Given the description of an element on the screen output the (x, y) to click on. 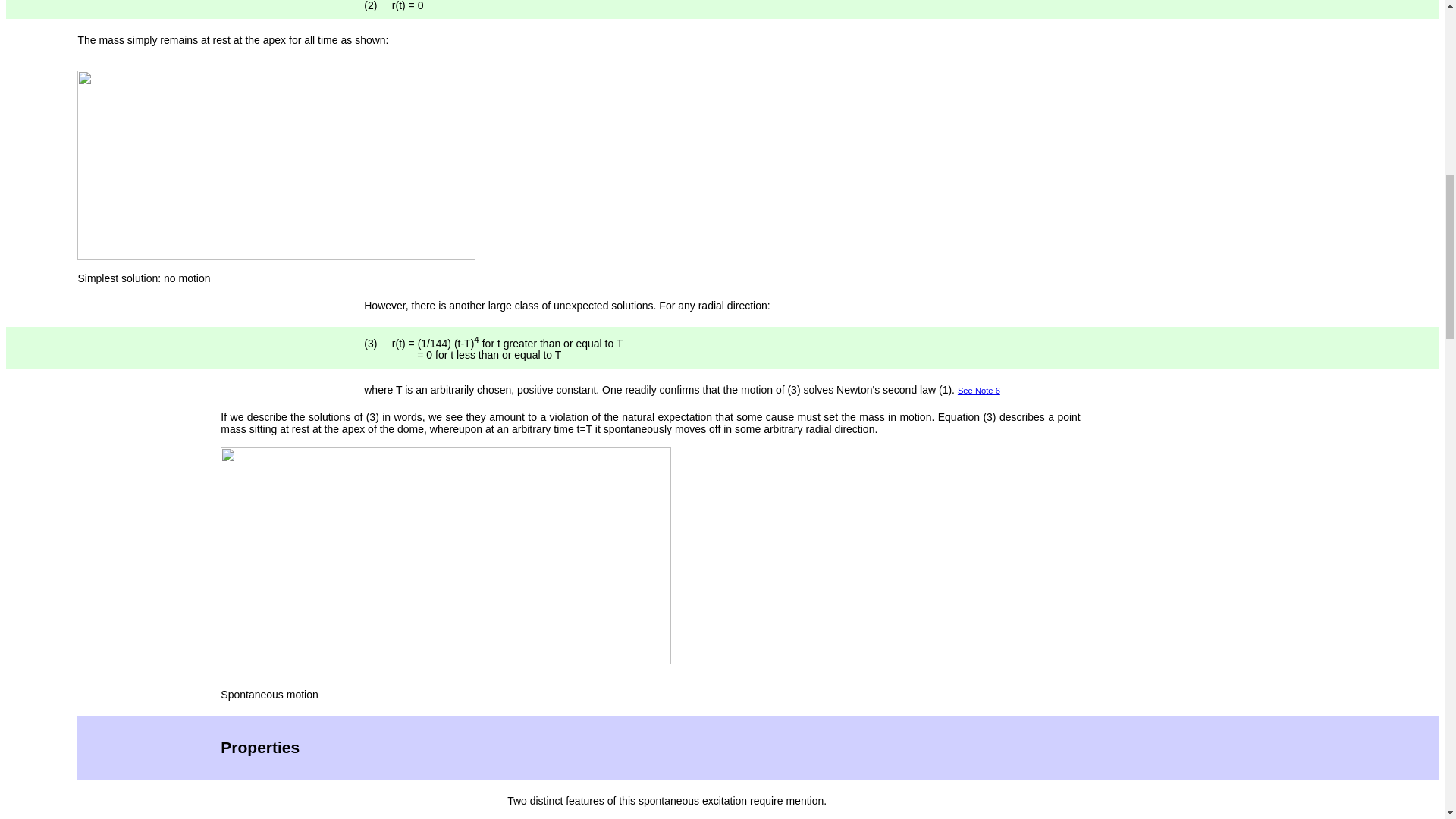
See Note 6 (979, 389)
